Given the description of an element on the screen output the (x, y) to click on. 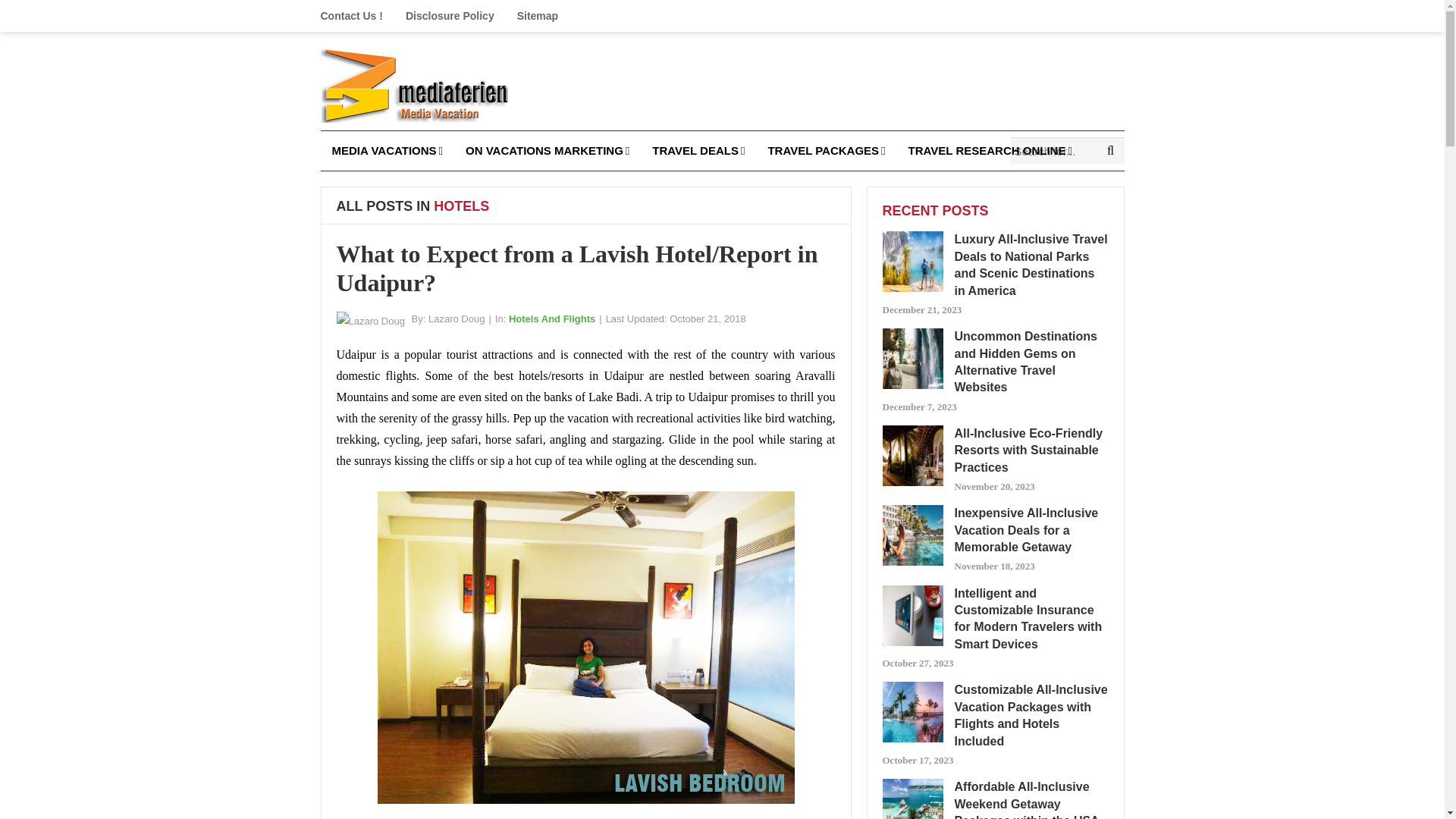
Disclosure Policy (449, 15)
Contact Us ! (356, 15)
Sitemap (537, 15)
